Given the description of an element on the screen output the (x, y) to click on. 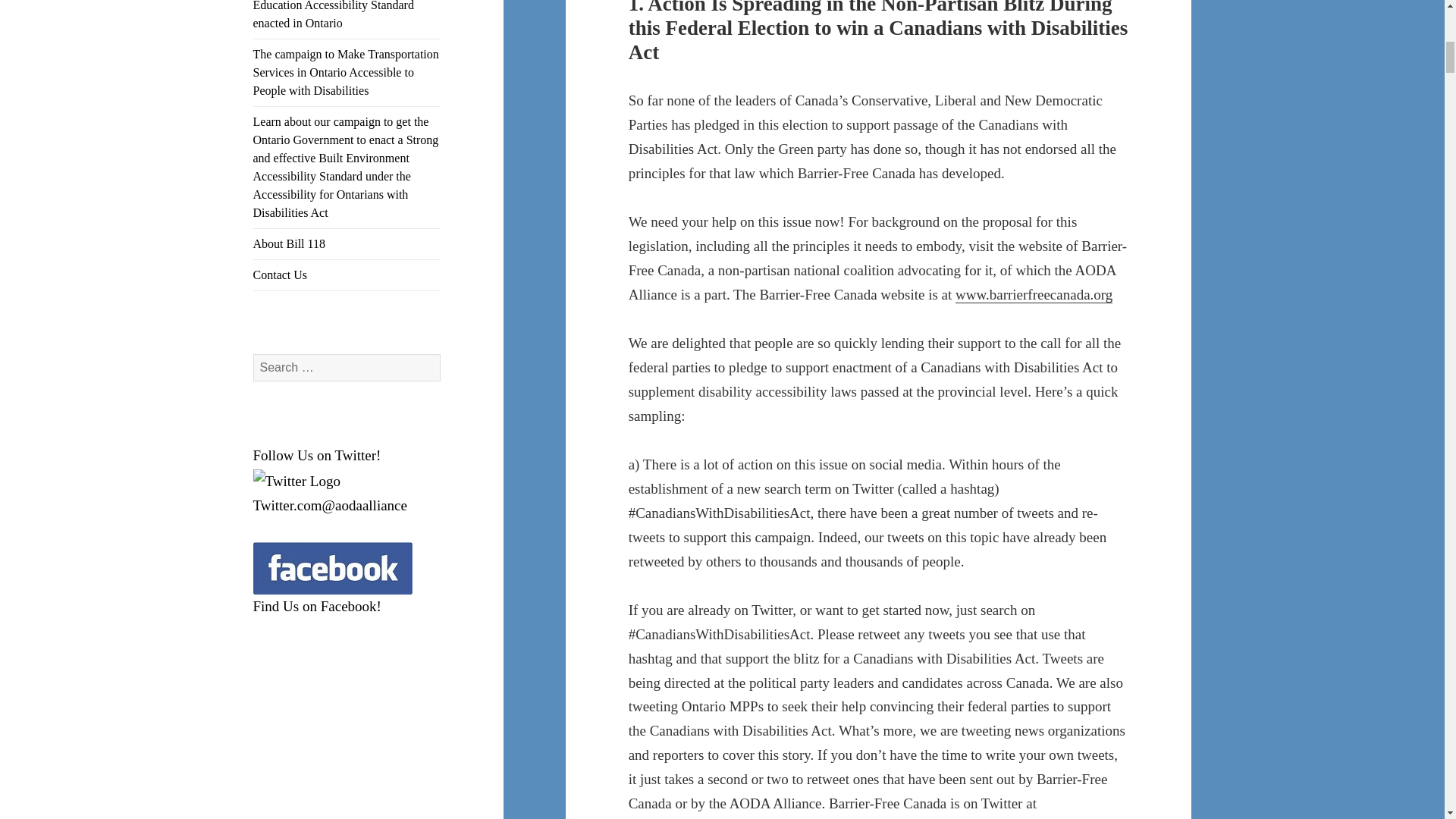
www.barrierfreecanada.org (1033, 294)
About Bill 118 (347, 244)
Find Us on Facebook! (317, 606)
Follow Us on Twitter! (317, 455)
Contact Us (347, 275)
